Given the description of an element on the screen output the (x, y) to click on. 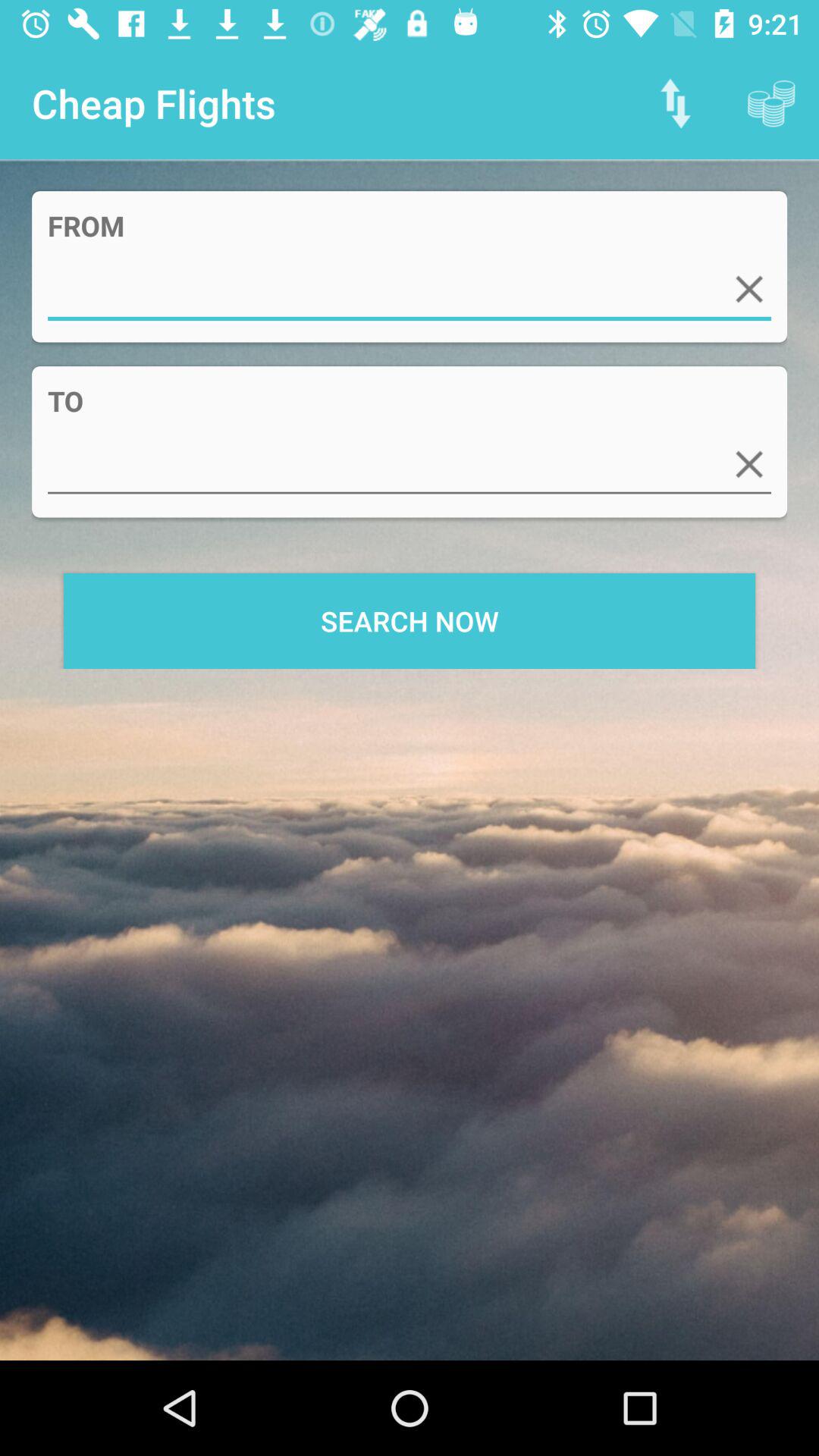
delete (749, 289)
